Given the description of an element on the screen output the (x, y) to click on. 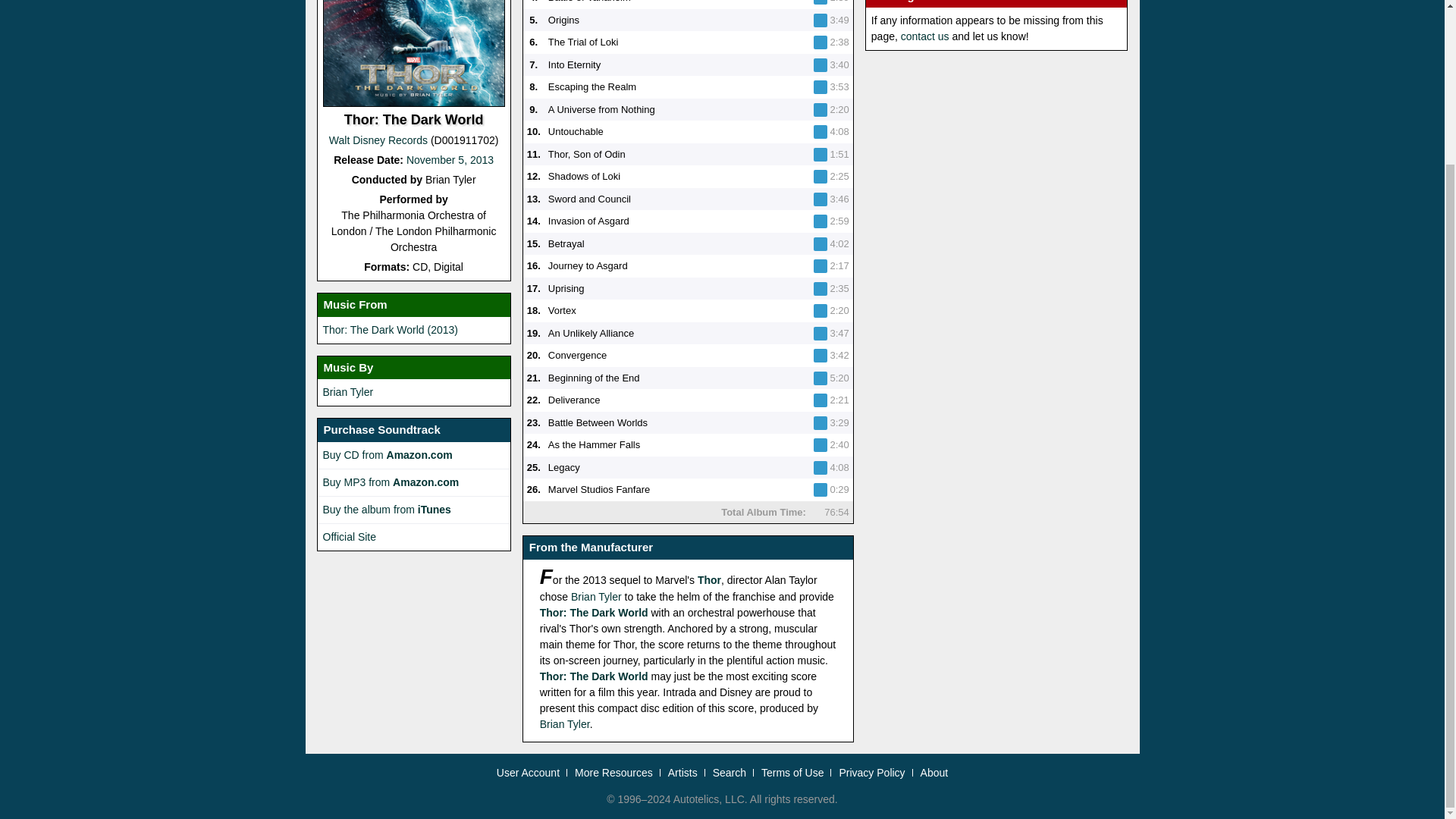
Buy MP3 from Amazon.com (391, 481)
Buy the album from iTunes (387, 509)
Walt Disney Records (378, 140)
Buy CD from Amazon.com (387, 454)
Official Site (350, 536)
November 5, 2013 (449, 159)
Brian Tyler (348, 391)
